Given the description of an element on the screen output the (x, y) to click on. 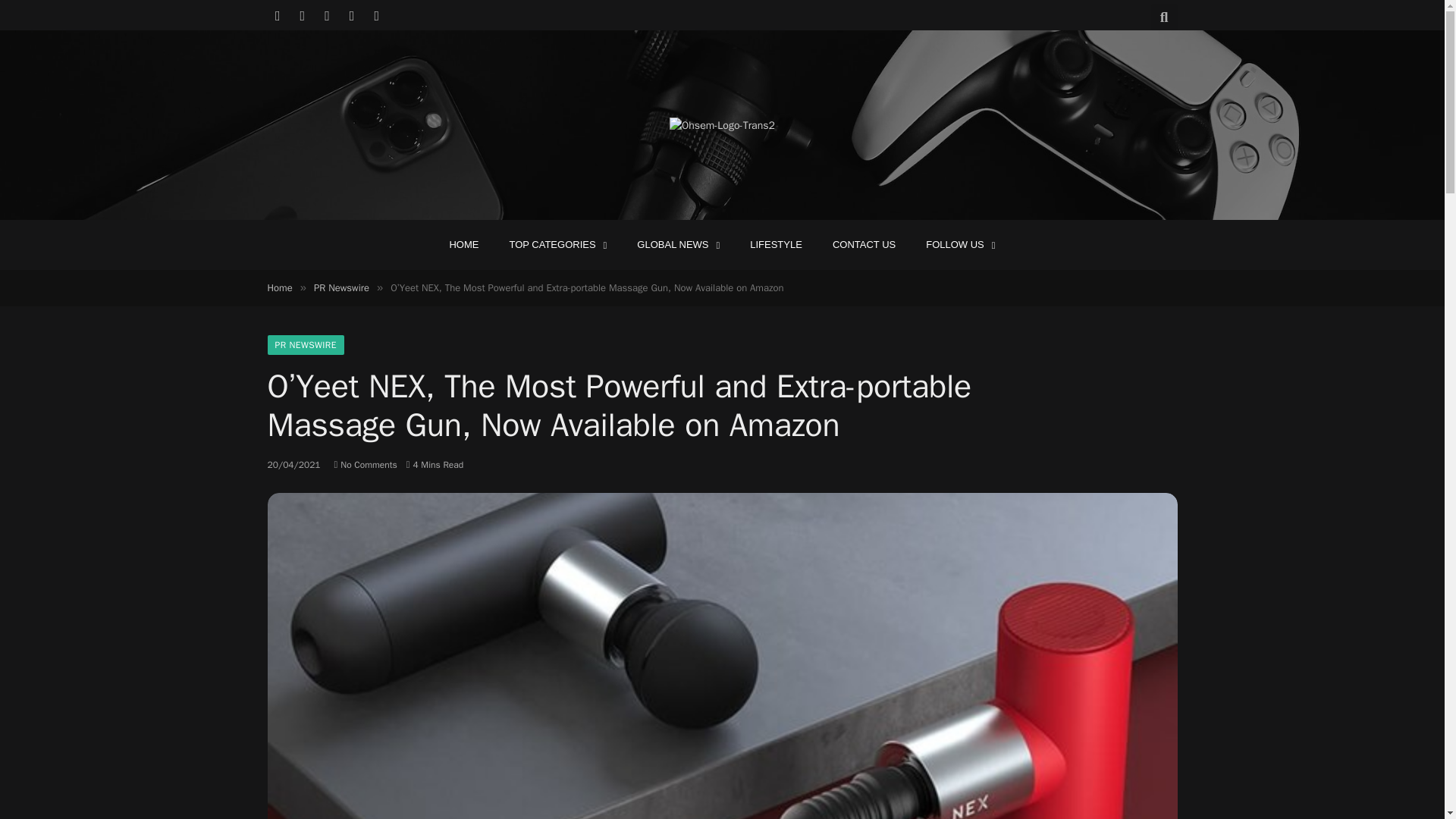
CONTACT US (863, 244)
HOME (463, 244)
TikTok (376, 15)
GLOBAL NEWS (678, 244)
FOLLOW US (960, 244)
Instagram (327, 15)
Ohsem-Logo-Trans2 (721, 125)
Facebook (277, 15)
LIFESTYLE (775, 244)
LinkedIn (351, 15)
TOP CATEGORIES (557, 244)
